Given the description of an element on the screen output the (x, y) to click on. 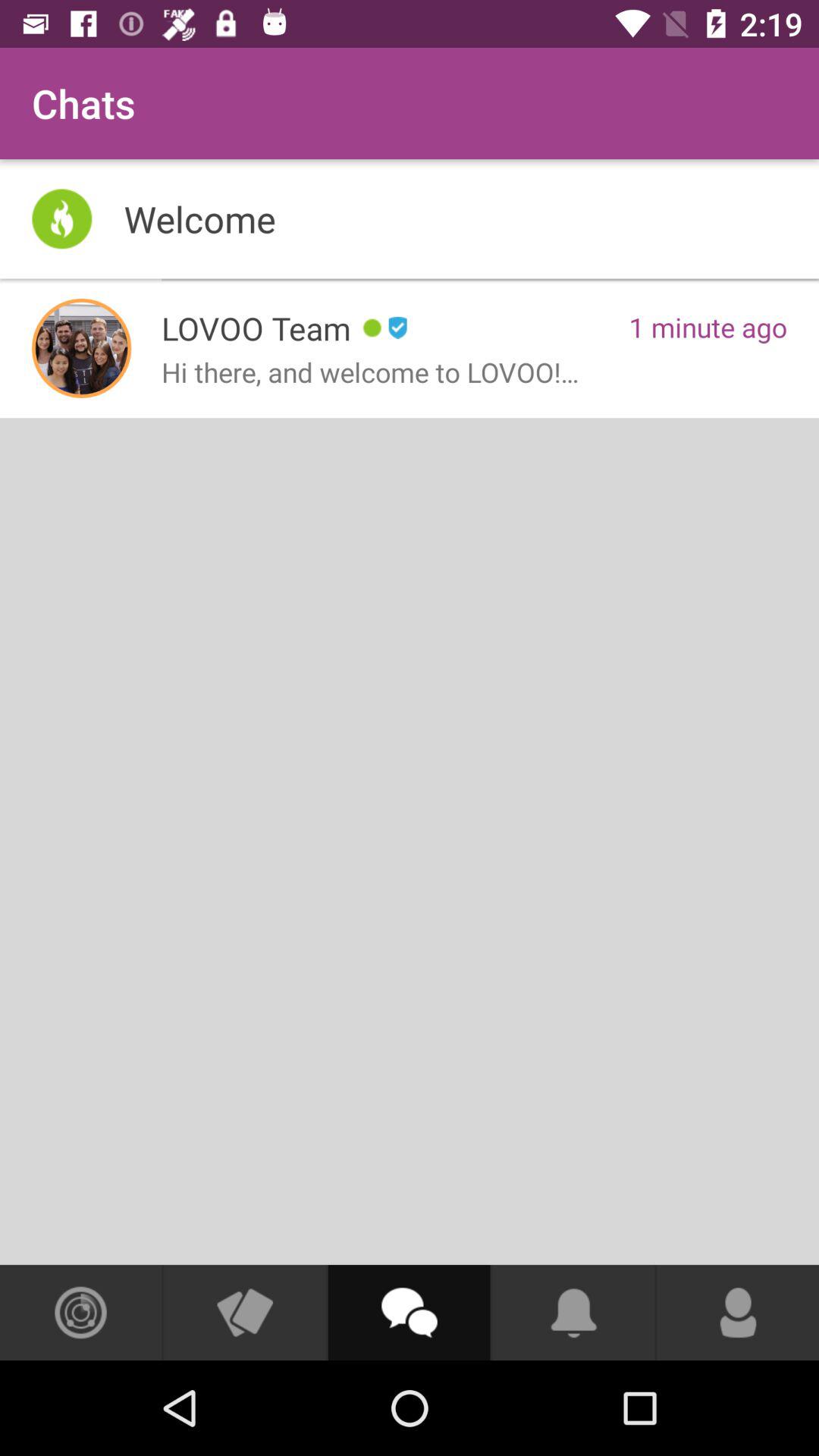
select result (81, 348)
